Given the description of an element on the screen output the (x, y) to click on. 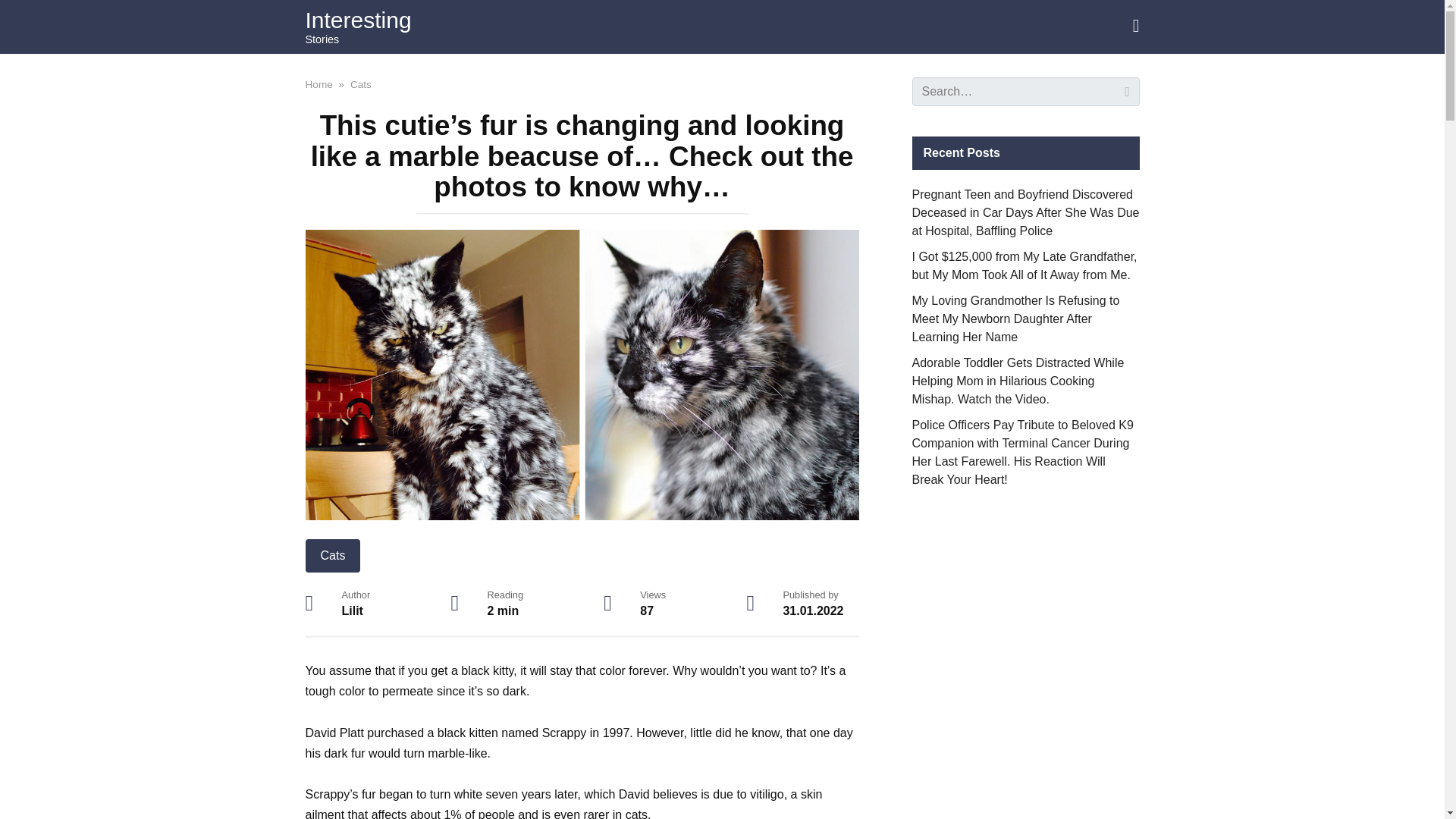
Home (317, 84)
Interesting (357, 19)
Cats (331, 555)
Cats (360, 84)
